Given the description of an element on the screen output the (x, y) to click on. 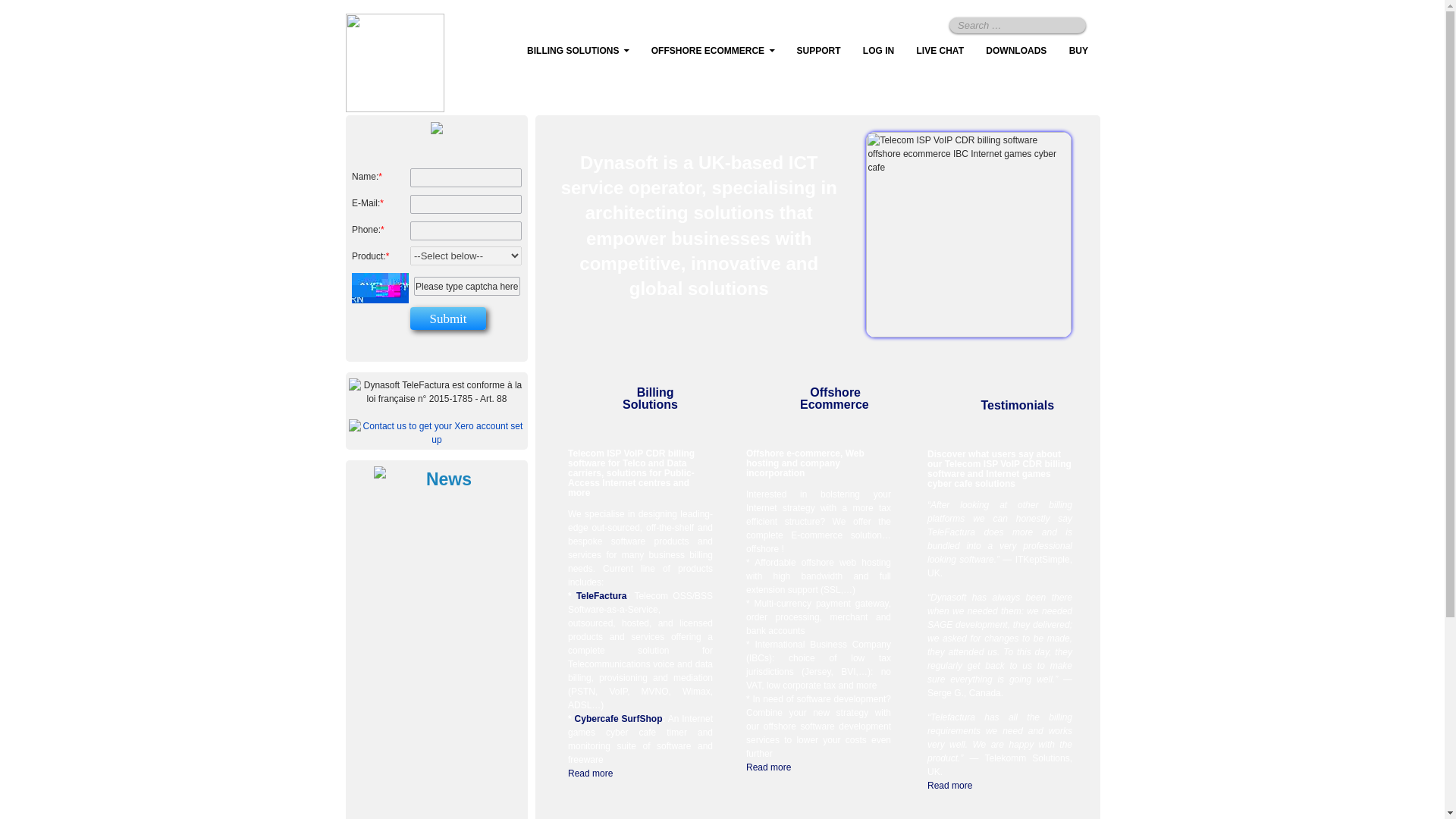
TeleFactura (601, 595)
Customer Login (878, 51)
BUY (1078, 51)
Read more (589, 773)
Search (1071, 24)
Submit (448, 318)
Testimonials (1016, 404)
Read more (949, 785)
Submit (448, 318)
Search (1071, 24)
